Given the description of an element on the screen output the (x, y) to click on. 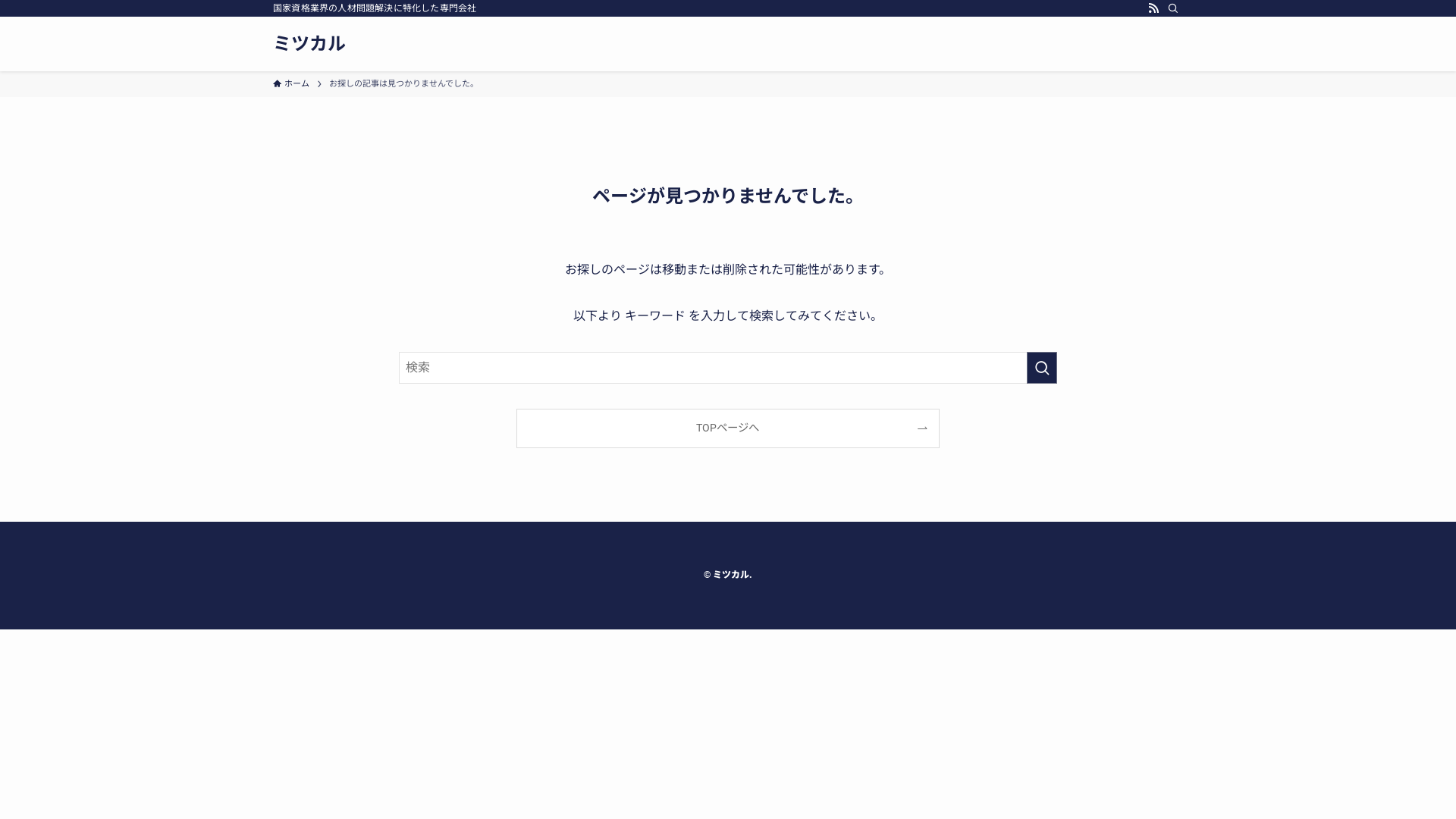
search Element type: text (1041, 367)
search Element type: text (928, 421)
